Given the description of an element on the screen output the (x, y) to click on. 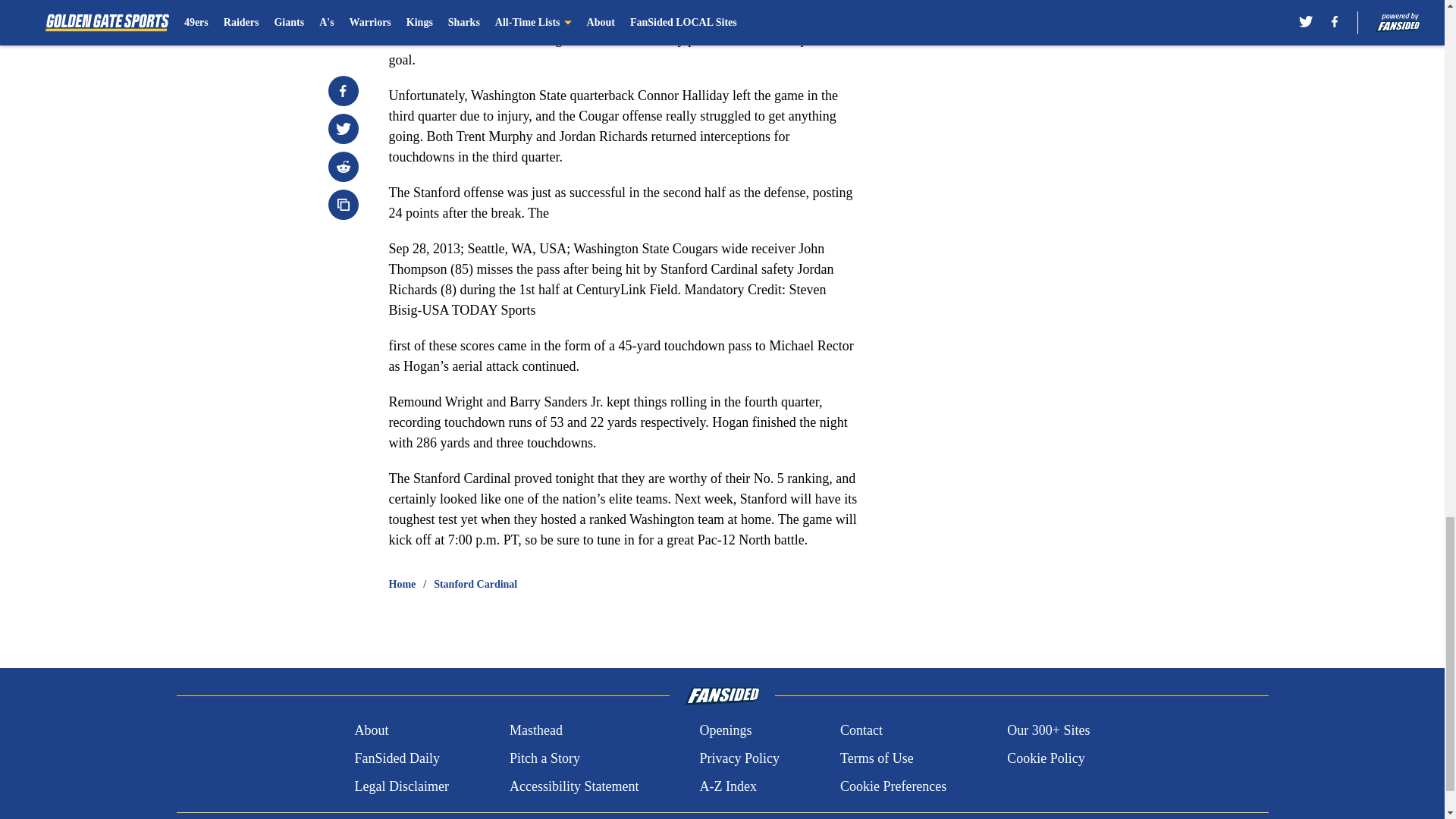
Openings (724, 730)
About (370, 730)
Privacy Policy (738, 758)
A-Z Index (726, 786)
Cookie Policy (1045, 758)
Terms of Use (877, 758)
Accessibility Statement (574, 786)
Cookie Preferences (893, 786)
Stanford Cardinal (474, 584)
Pitch a Story (544, 758)
